Given the description of an element on the screen output the (x, y) to click on. 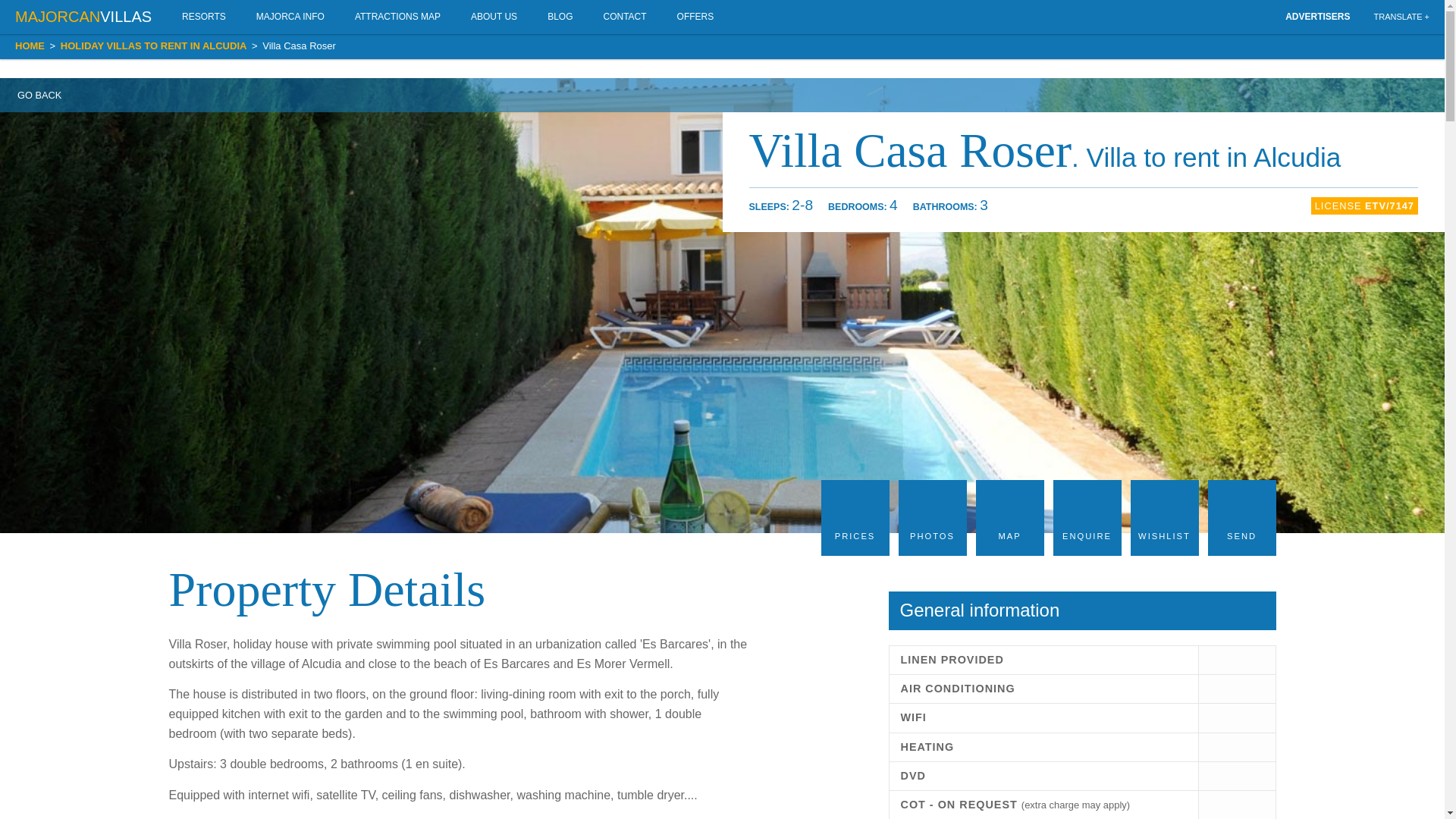
MAJORCANVILLAS (90, 16)
RESORTS (204, 16)
Popular Majorca resorts and areas (204, 16)
About us (493, 16)
Majorca Blog (560, 16)
MAJORCA INFO (290, 16)
Majorca Attractions map (397, 16)
ADVERTISERS (1317, 16)
Contact Us (624, 16)
